Given the description of an element on the screen output the (x, y) to click on. 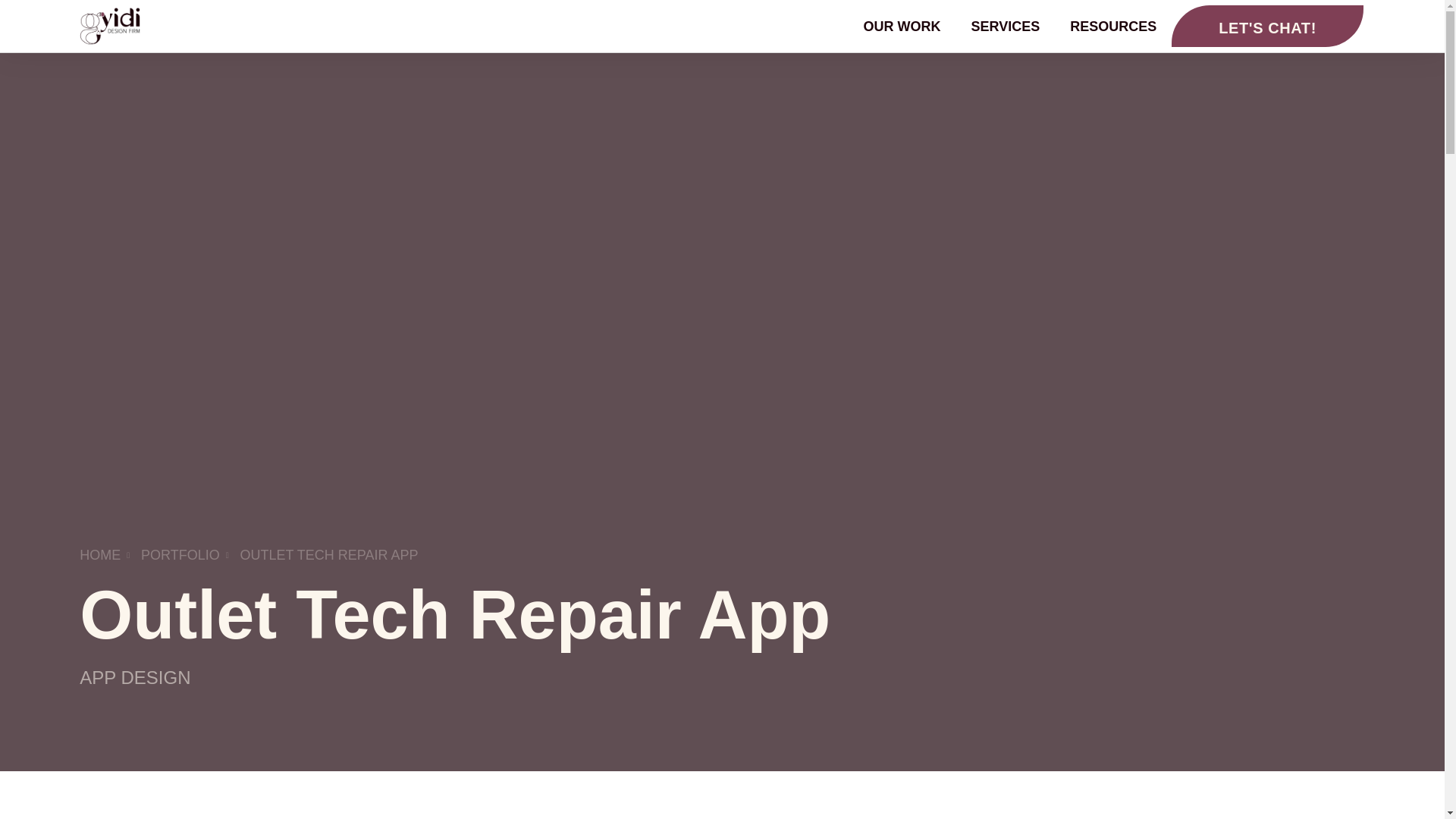
LET'S CHAT! (1267, 25)
OUTLET TECH REPAIR APP (322, 555)
HOME (100, 555)
PORTFOLIO (172, 555)
APP DESIGN (135, 677)
OUR WORK (902, 26)
RESOURCES (1113, 26)
SERVICES (1005, 26)
